Given the description of an element on the screen output the (x, y) to click on. 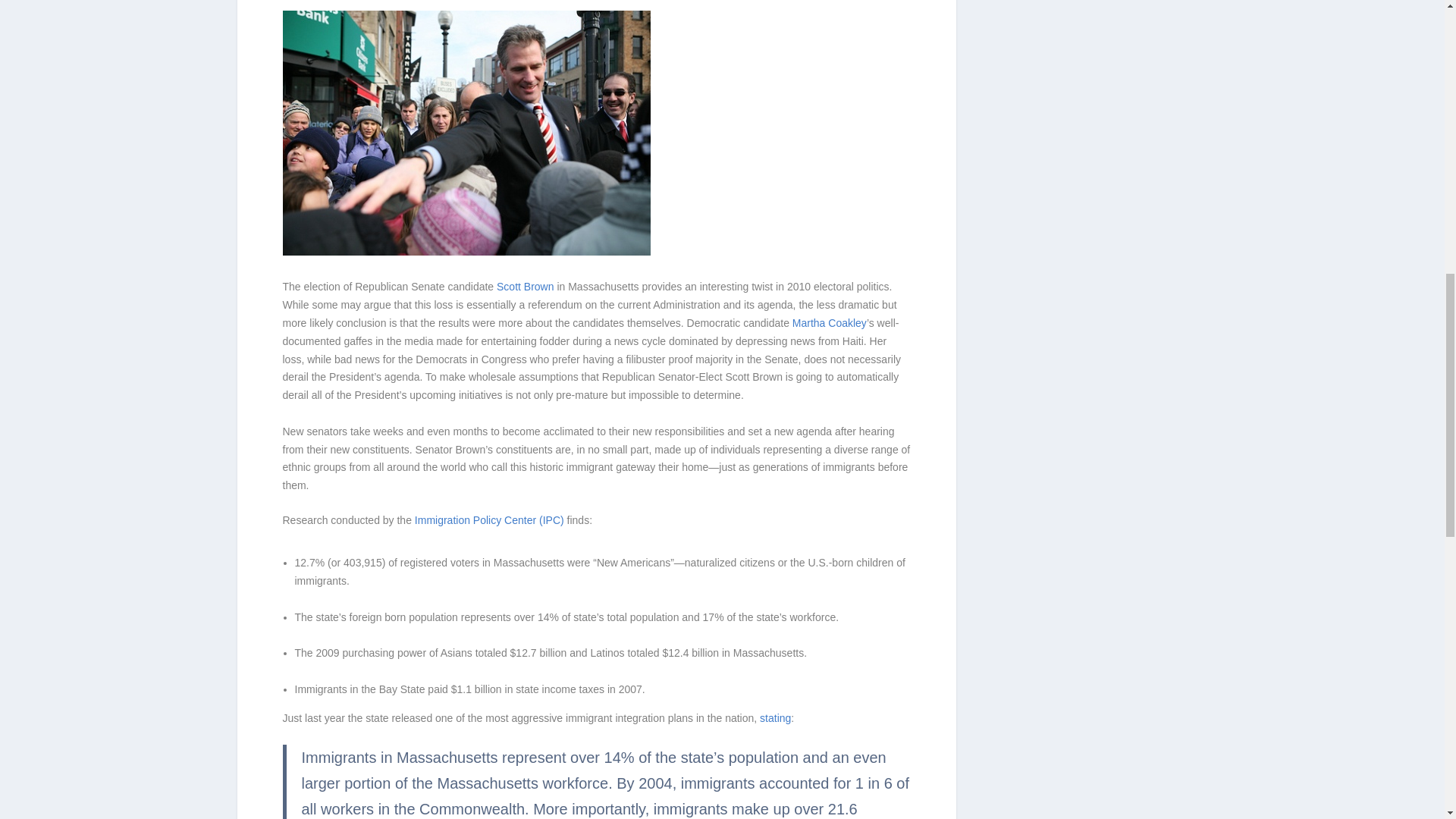
Scott Brown (524, 286)
brown (465, 132)
Martha Coakley (829, 322)
stating (775, 717)
